Given the description of an element on the screen output the (x, y) to click on. 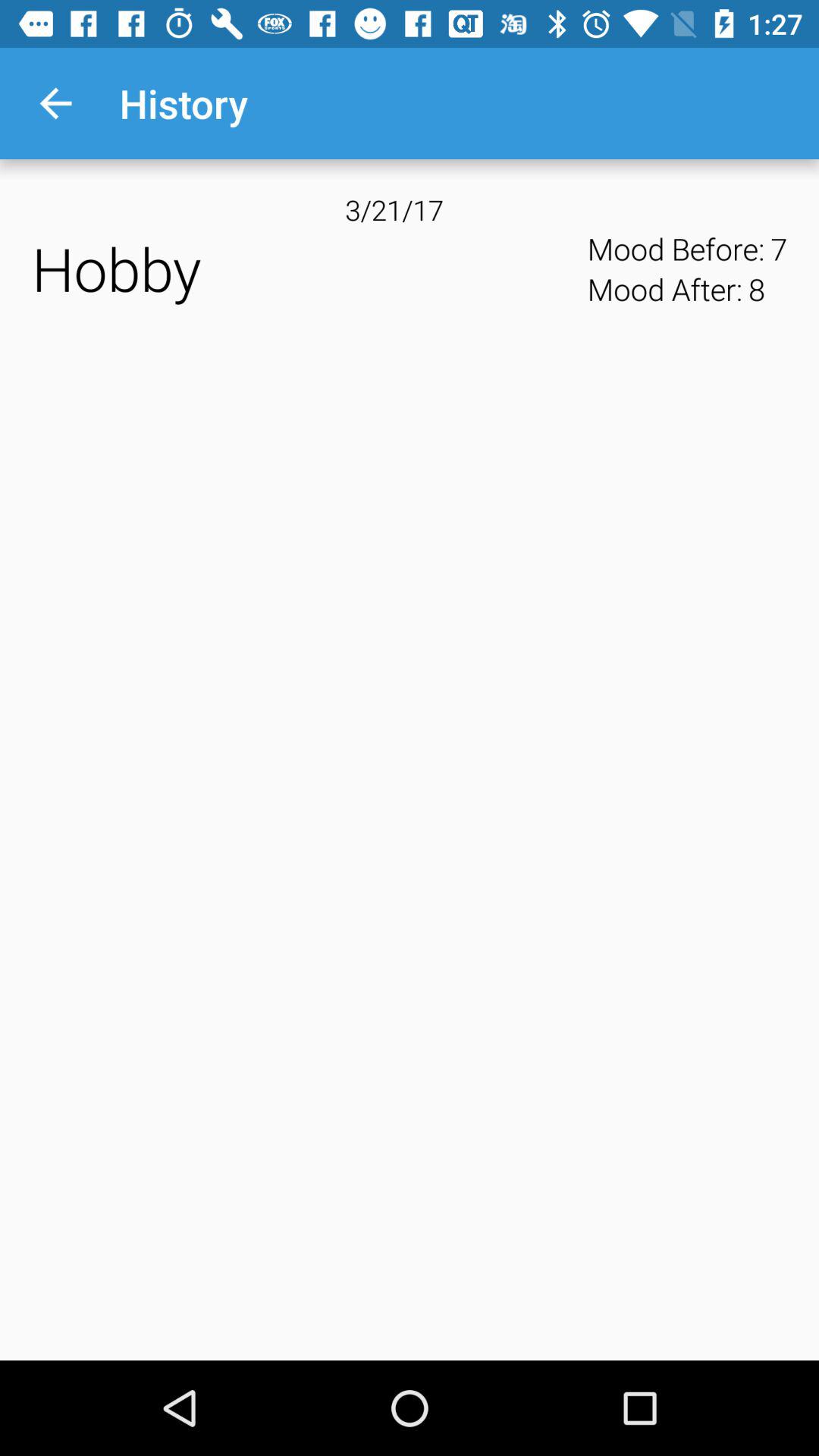
open app next to mood before: icon (409, 209)
